Given the description of an element on the screen output the (x, y) to click on. 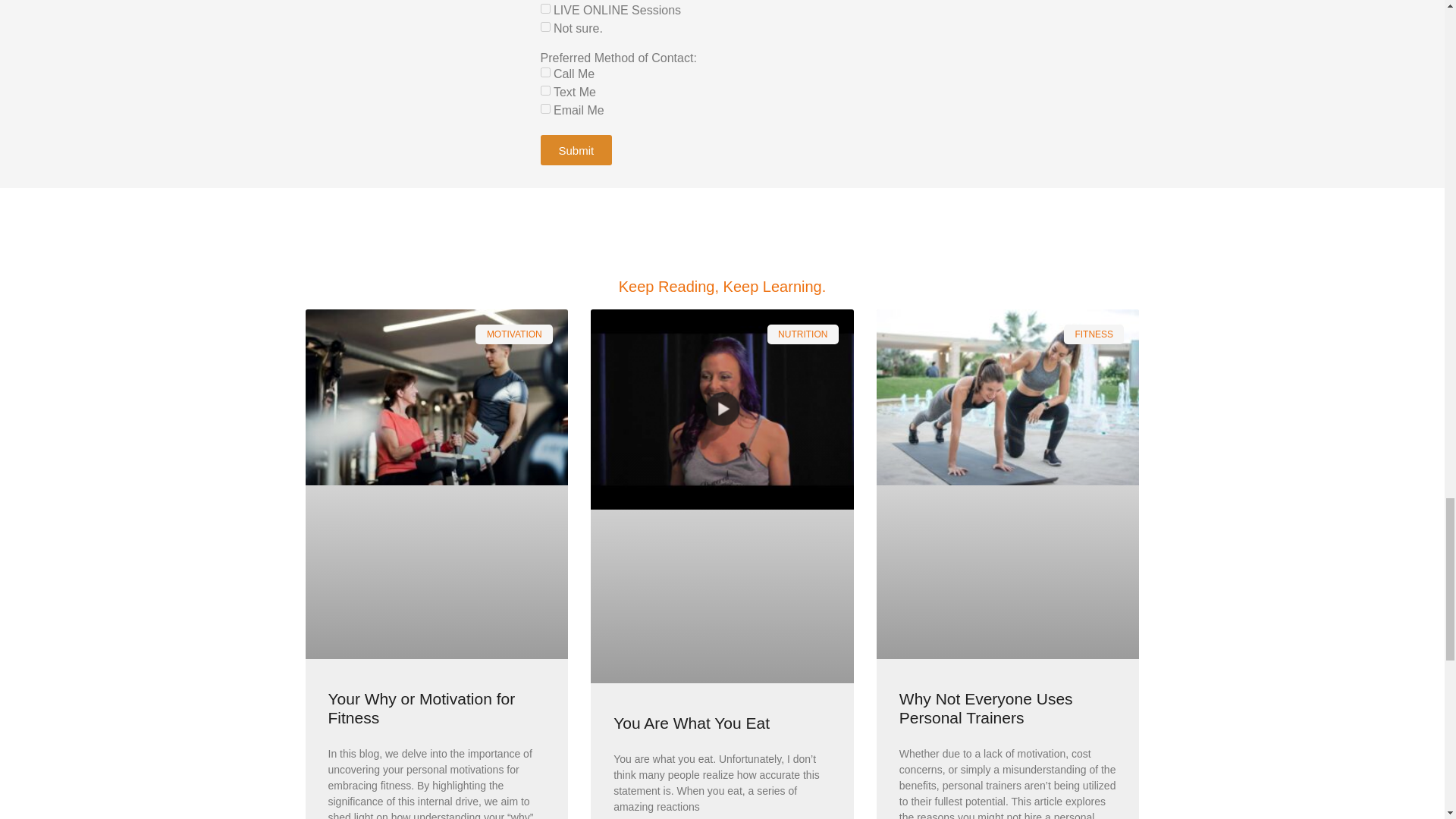
Text Me (545, 90)
Email Me (545, 108)
Call Me (545, 71)
Not sure. (545, 26)
LIVE ONLINE Sessions (545, 8)
